Given the description of an element on the screen output the (x, y) to click on. 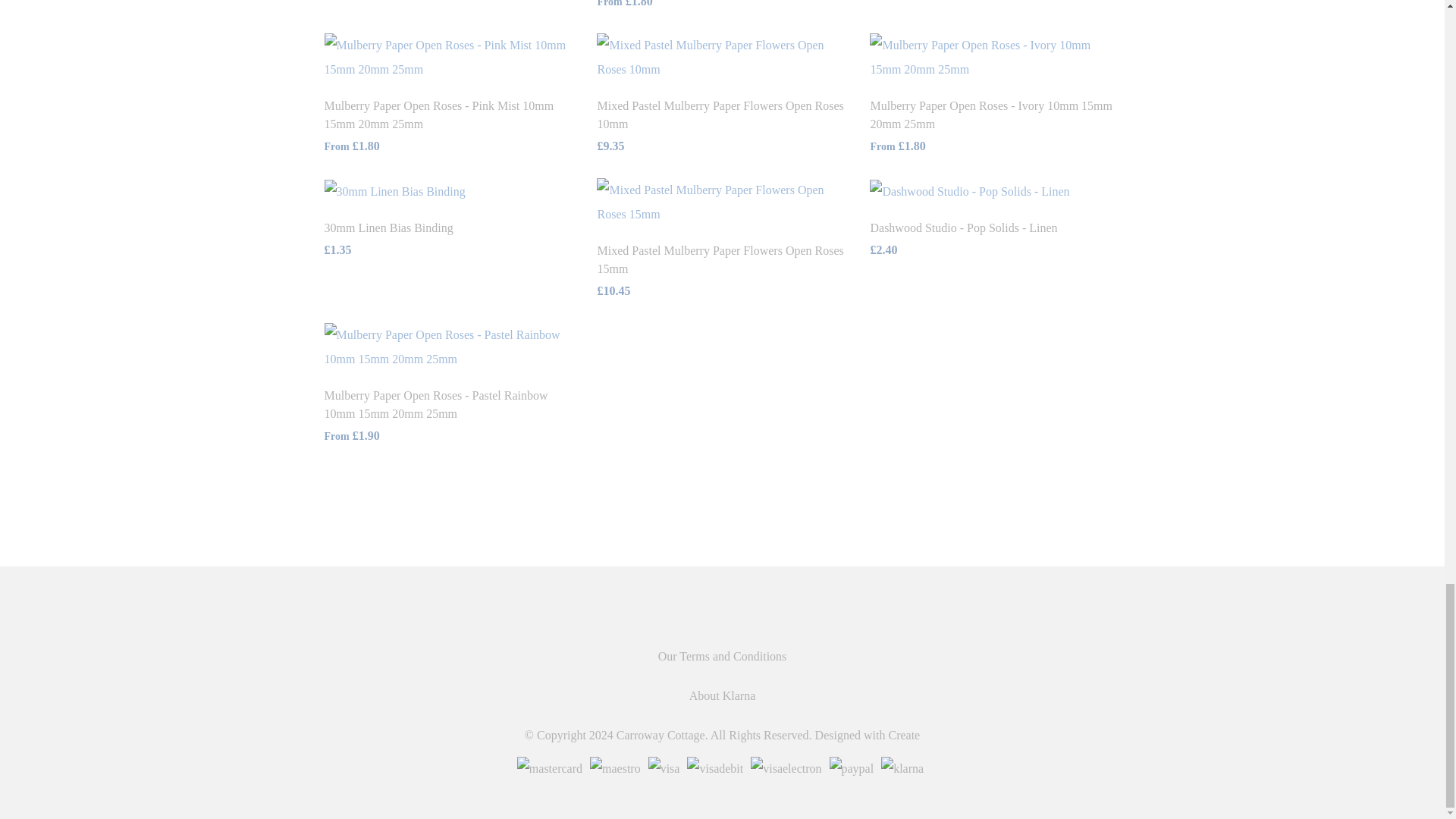
Mixed Pastel Mulberry Paper Flowers Open Roses 15mm (721, 201)
 Mulberry Paper Open Roses - Ivory 10mm 15mm 20mm 25mm (994, 56)
30mm Linen Bias Binding (394, 189)
Mixed Pastel Mulberry Paper Flowers Open Roses 10mm (721, 56)
Mixed Pastel Mulberry Paper Flowers Open Roses 15mm (719, 259)
 Dashwood Studio - Pop Solids - Linen (963, 227)
 Dashwood Studio - Pop Solids - Linen (968, 189)
 Mulberry Paper Open Roses - Ivory 10mm 15mm 20mm 25mm (990, 114)
 Mulberry Paper Open Roses - Pink Mist 10mm 15mm 20mm 25mm (439, 114)
Mixed Pastel Mulberry Paper Flowers Open Roses 10mm (719, 114)
30mm Linen Bias Binding (388, 227)
 Mulberry Paper Open Roses - Pink Mist 10mm 15mm 20mm 25mm (449, 56)
